Given the description of an element on the screen output the (x, y) to click on. 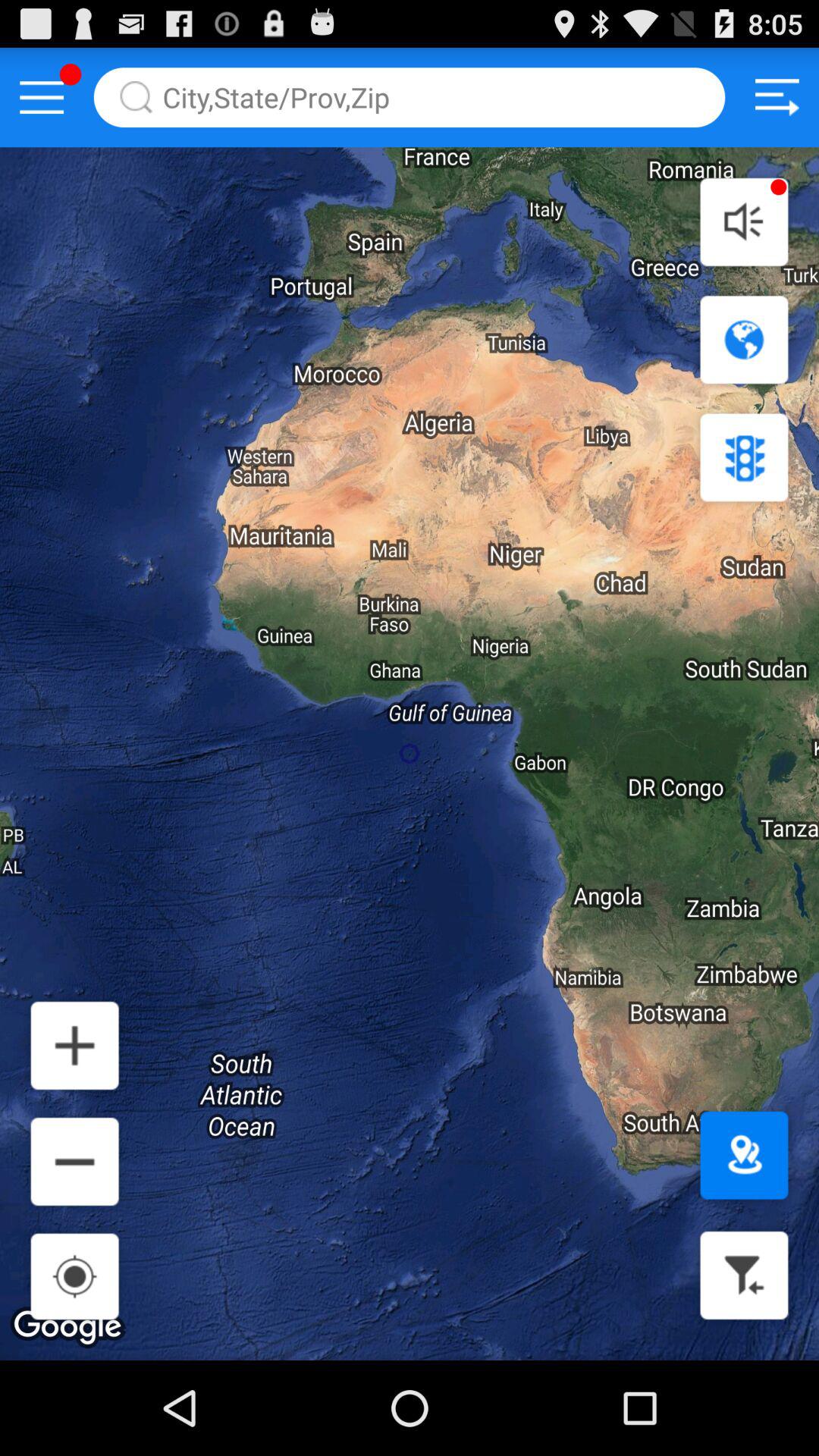
advertisement (777, 97)
